Given the description of an element on the screen output the (x, y) to click on. 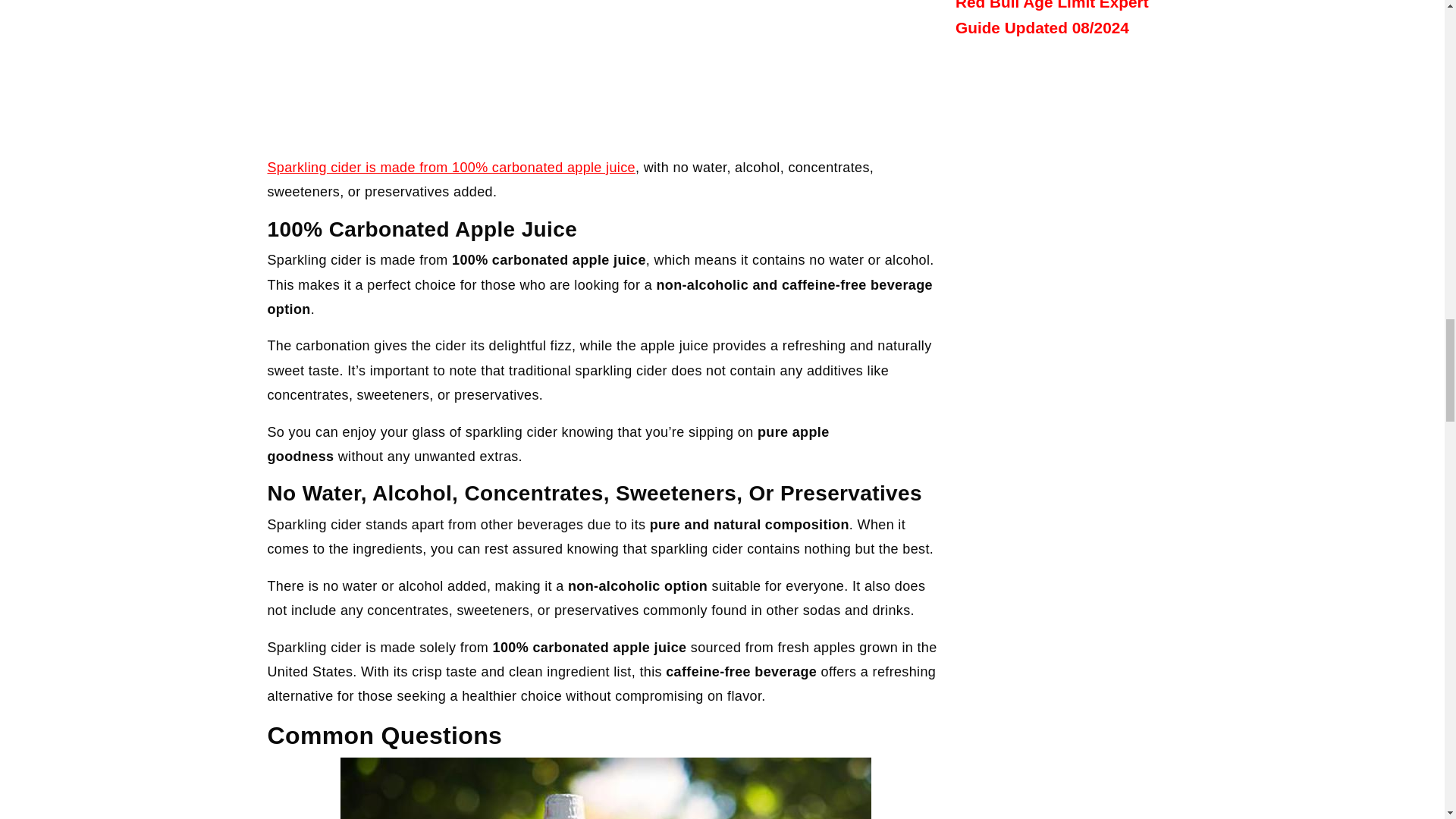
Advertisement (604, 71)
